Given the description of an element on the screen output the (x, y) to click on. 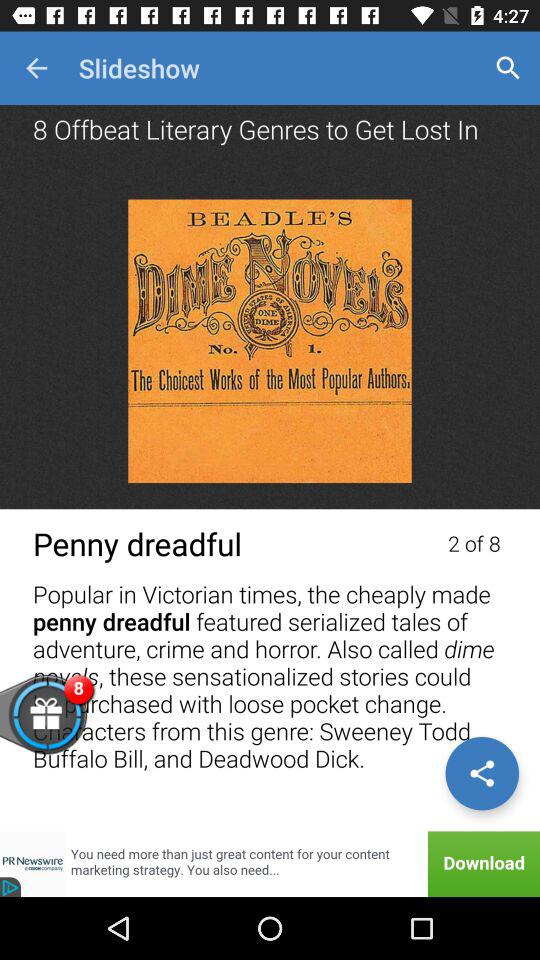
open the newswire advertisement (270, 864)
